Given the description of an element on the screen output the (x, y) to click on. 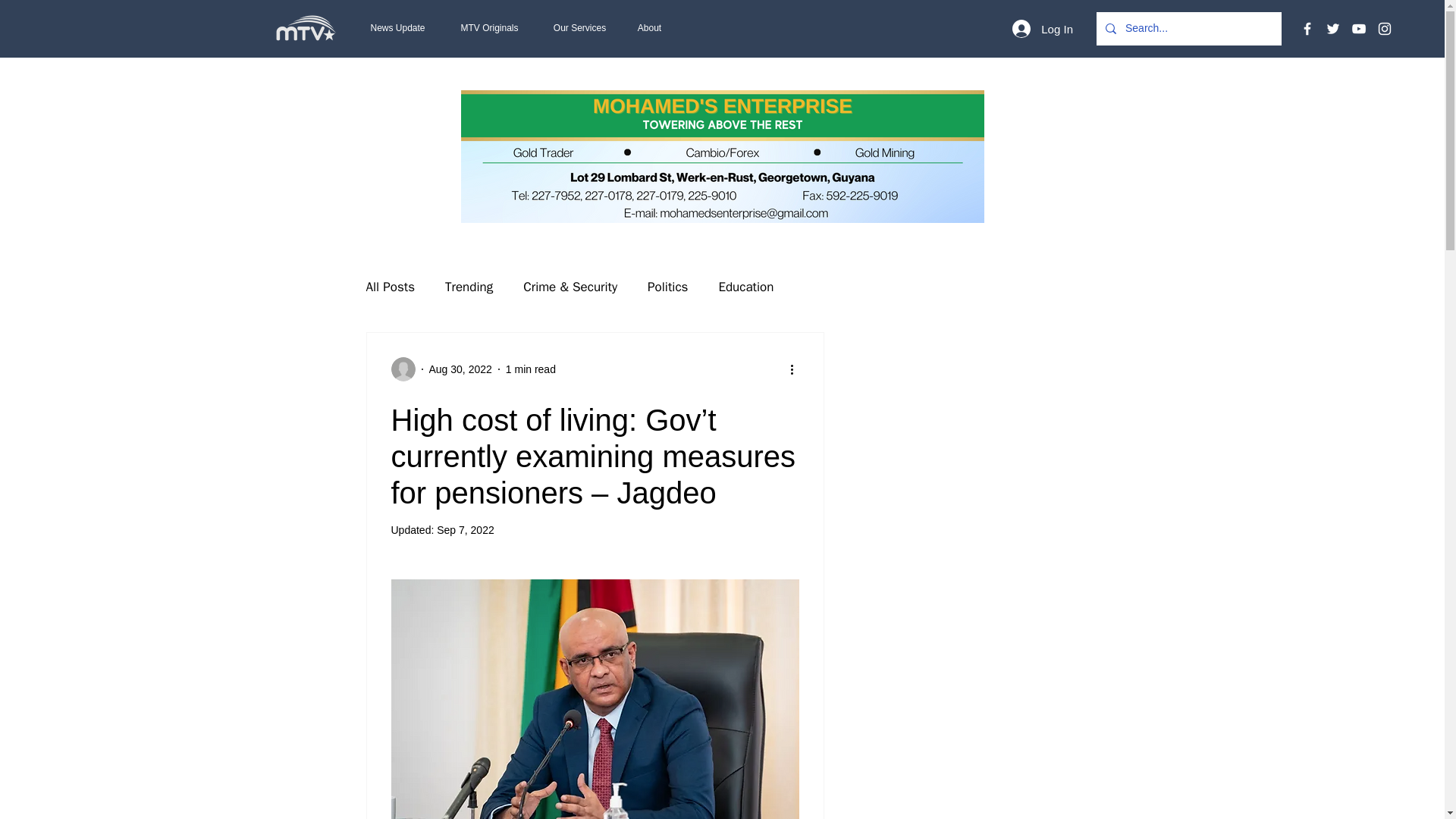
Trending (469, 285)
Log In (1042, 28)
Politics (667, 285)
MTV Originals (488, 27)
Aug 30, 2022 (460, 368)
1 min read (530, 368)
All Posts (389, 285)
About (649, 27)
Sep 7, 2022 (465, 530)
News Update (397, 27)
